Given the description of an element on the screen output the (x, y) to click on. 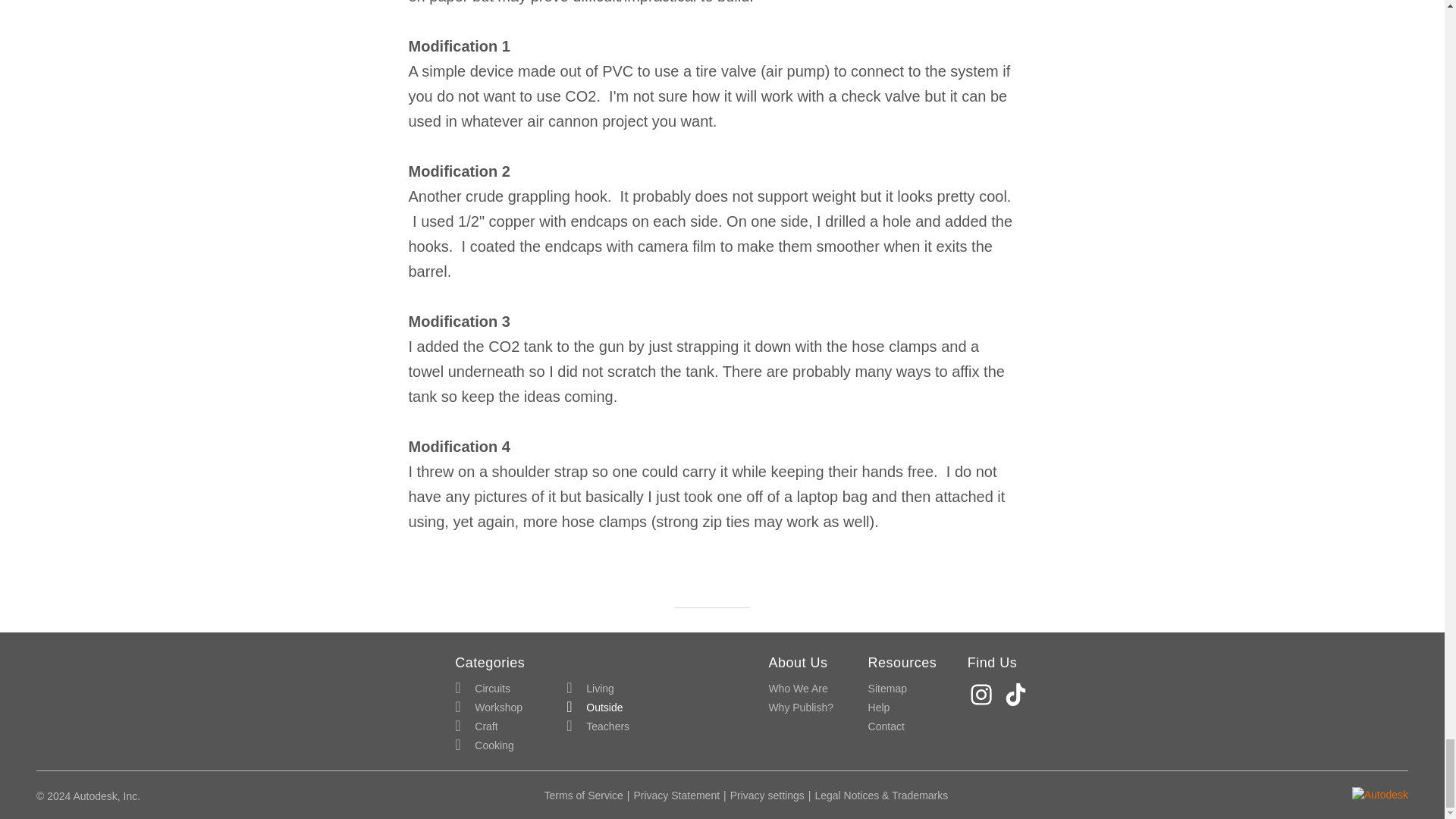
Sitemap (887, 688)
Workshop (488, 707)
Cooking (483, 745)
Teachers (597, 726)
Living (590, 688)
TikTok (1018, 694)
Outside (594, 707)
Circuits (482, 688)
Who We Are (797, 688)
Why Publish? (800, 707)
